Given the description of an element on the screen output the (x, y) to click on. 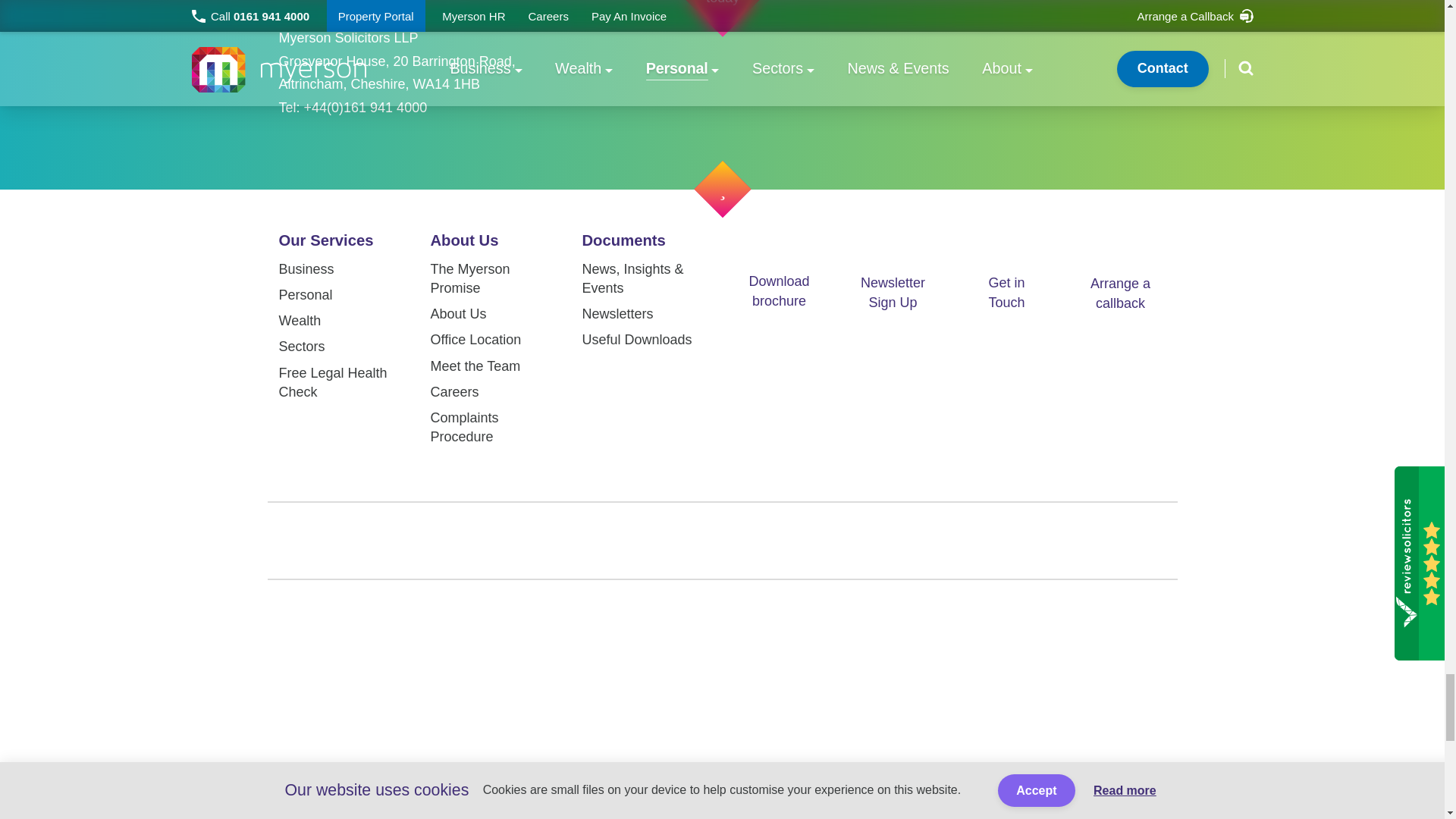
Myerson Solicitors LLP on Facebook (659, 540)
Myerson Solicitors LLP on Instagram (780, 540)
Myerson Solicitors LLP on LinkedIn (720, 540)
Myerson Solicitors LLP on YouTube (842, 540)
Myerson Solicitors LLP on Twitter (599, 540)
